Given the description of an element on the screen output the (x, y) to click on. 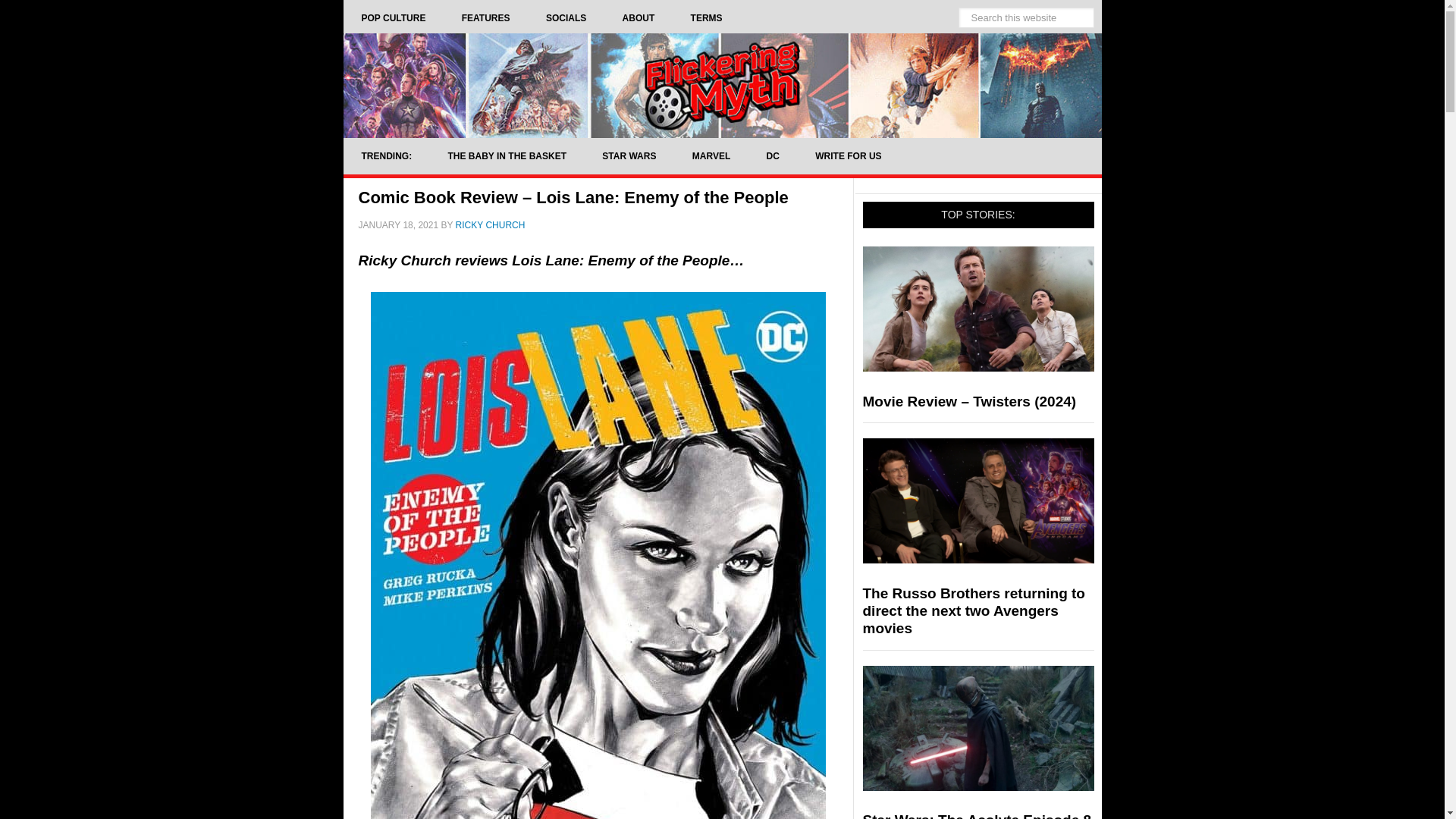
SOCIALS (565, 18)
Features (486, 18)
MARVEL (711, 156)
About Flickering Myth (638, 18)
RICKY CHURCH (490, 225)
STAR WARS (628, 156)
Flickering Myth Social Media (565, 18)
FEATURES (486, 18)
TRENDING: (385, 156)
DC (772, 156)
THE BABY IN THE BASKET (507, 156)
WRITE FOR US (847, 156)
Pop Culture (393, 18)
TERMS (706, 18)
